Given the description of an element on the screen output the (x, y) to click on. 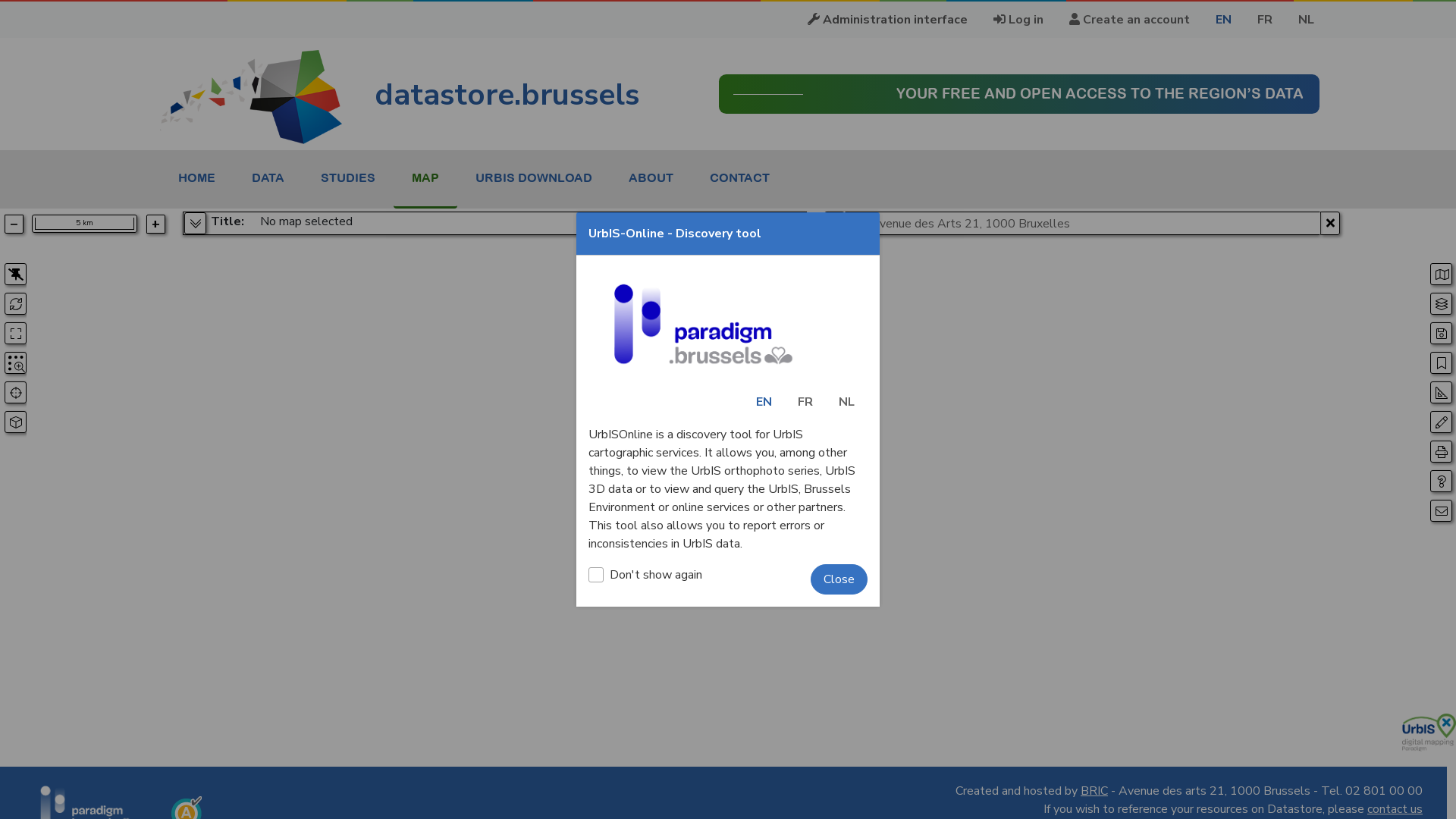
contact us Element type: text (1394, 808)
BRIC Element type: text (1093, 790)
DATA Element type: text (267, 177)
STUDIES Element type: text (347, 177)
NL Element type: text (846, 401)
Close Element type: text (838, 579)
datastore.brussels Element type: text (399, 94)
ABOUT Element type: text (650, 177)
CONTACT Element type: text (739, 177)
MAP Element type: text (425, 177)
FR Element type: text (804, 401)
HOME Element type: text (196, 177)
URBIS DOWNLOAD Element type: text (533, 177)
FR Element type: text (1264, 19)
Create an account Element type: text (1129, 19)
EN Element type: text (1223, 19)
EN Element type: text (763, 401)
NL Element type: text (1306, 19)
Log in Element type: text (1018, 19)
+ Element type: text (155, 223)
Administration interface Element type: text (887, 19)
